Given the description of an element on the screen output the (x, y) to click on. 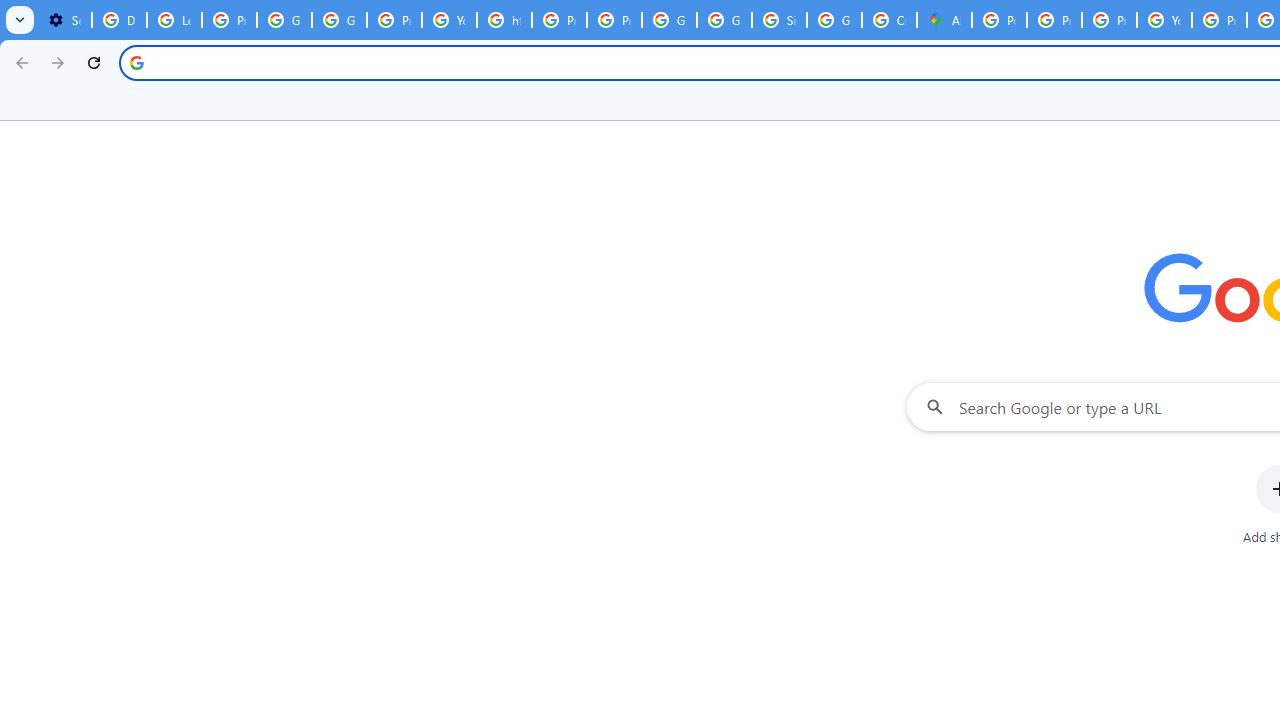
YouTube (449, 20)
Privacy Help Center - Policies Help (1053, 20)
Policy Accountability and Transparency - Transparency Center (998, 20)
Google Account Help (284, 20)
Create your Google Account (888, 20)
YouTube (1163, 20)
Settings - On startup (64, 20)
